Given the description of an element on the screen output the (x, y) to click on. 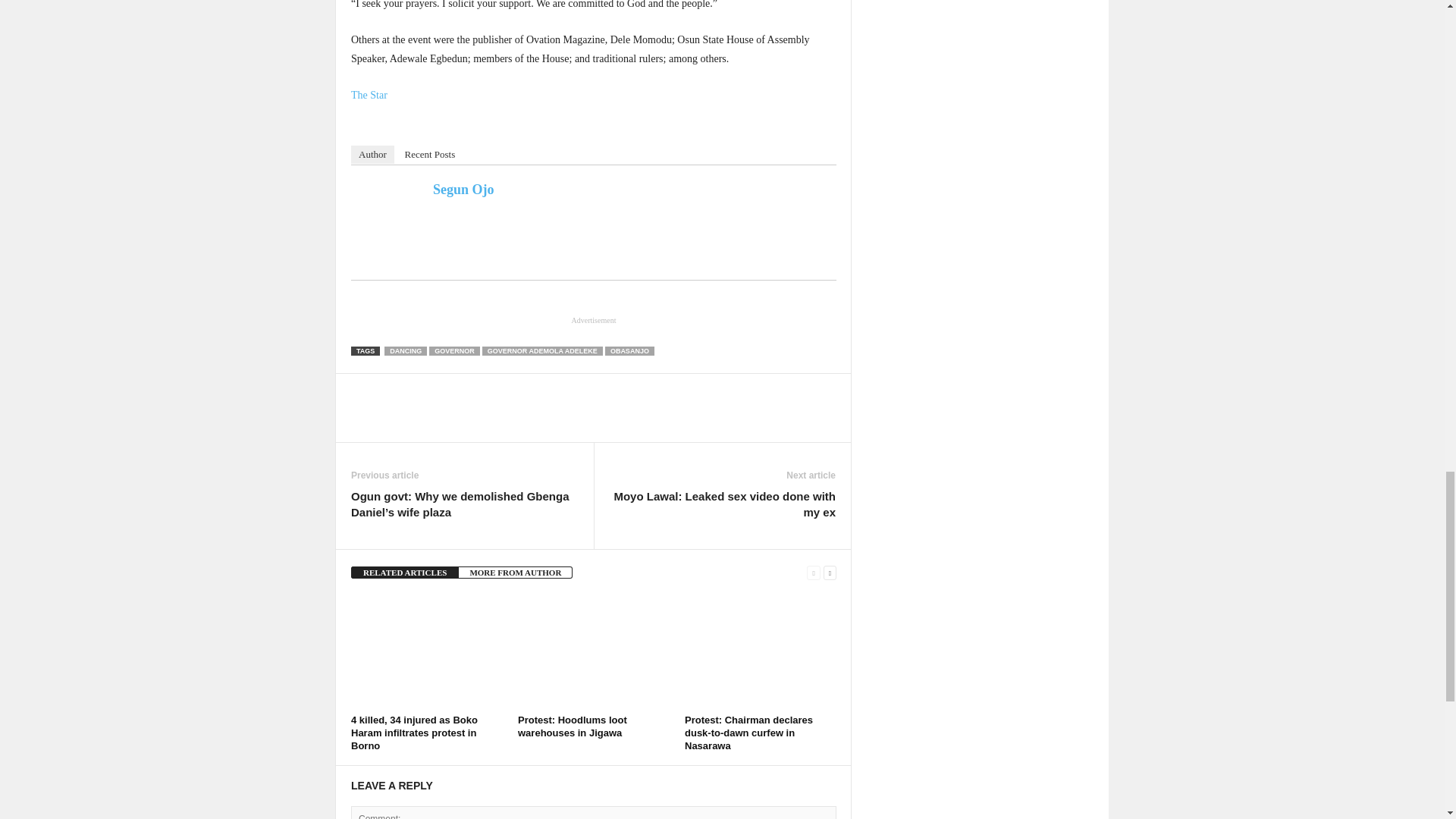
Segun Ojo (389, 218)
